Given the description of an element on the screen output the (x, y) to click on. 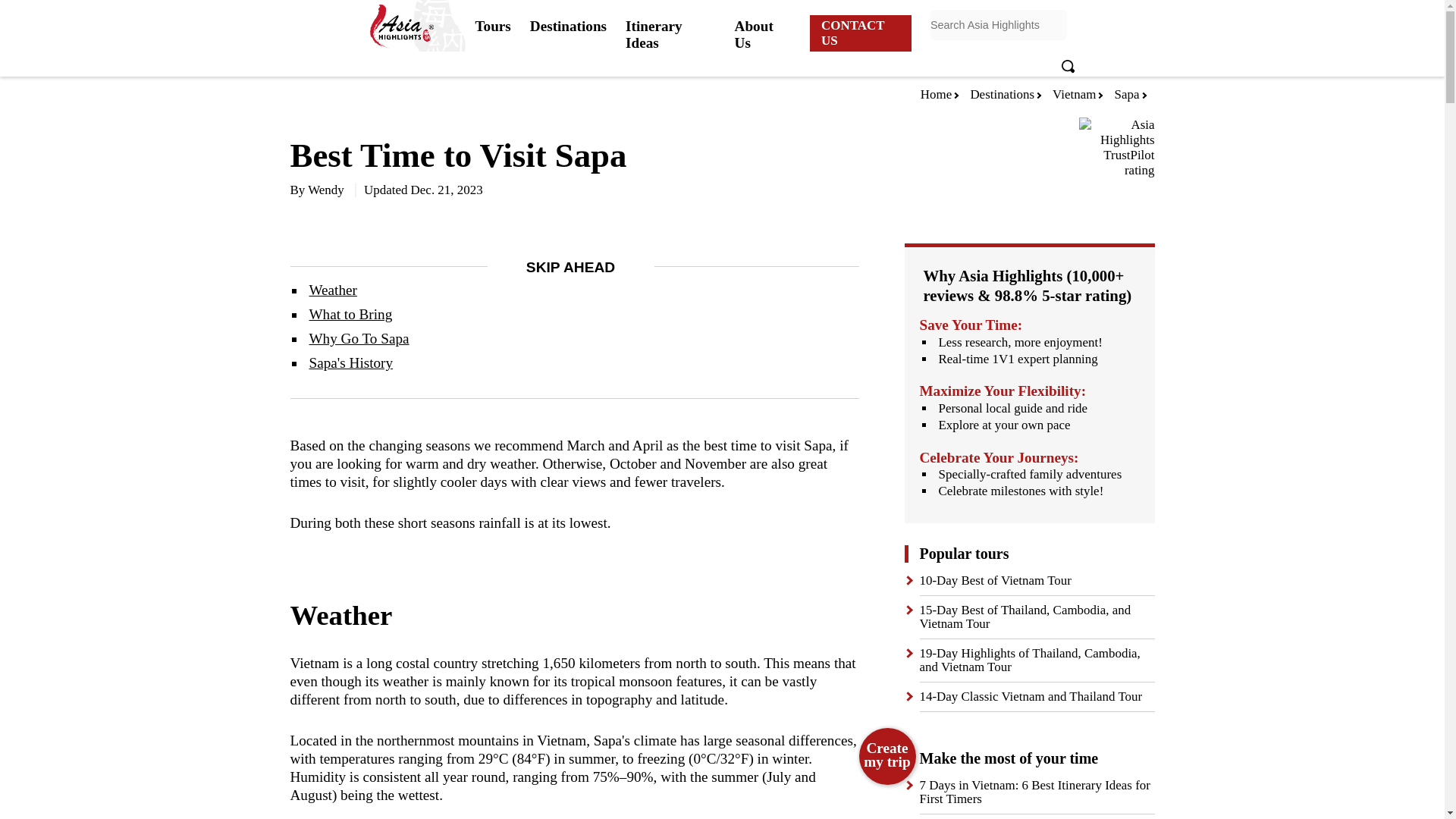
Destinations (1001, 93)
Why Go To Sapa (358, 338)
Sapa (1127, 93)
Home (936, 93)
Destinations (568, 24)
Weather (332, 289)
Itinerary Ideas (671, 33)
CONTACT US (860, 33)
What to Bring (350, 314)
Learn more. (883, 62)
Vietnam (1074, 93)
